Given the description of an element on the screen output the (x, y) to click on. 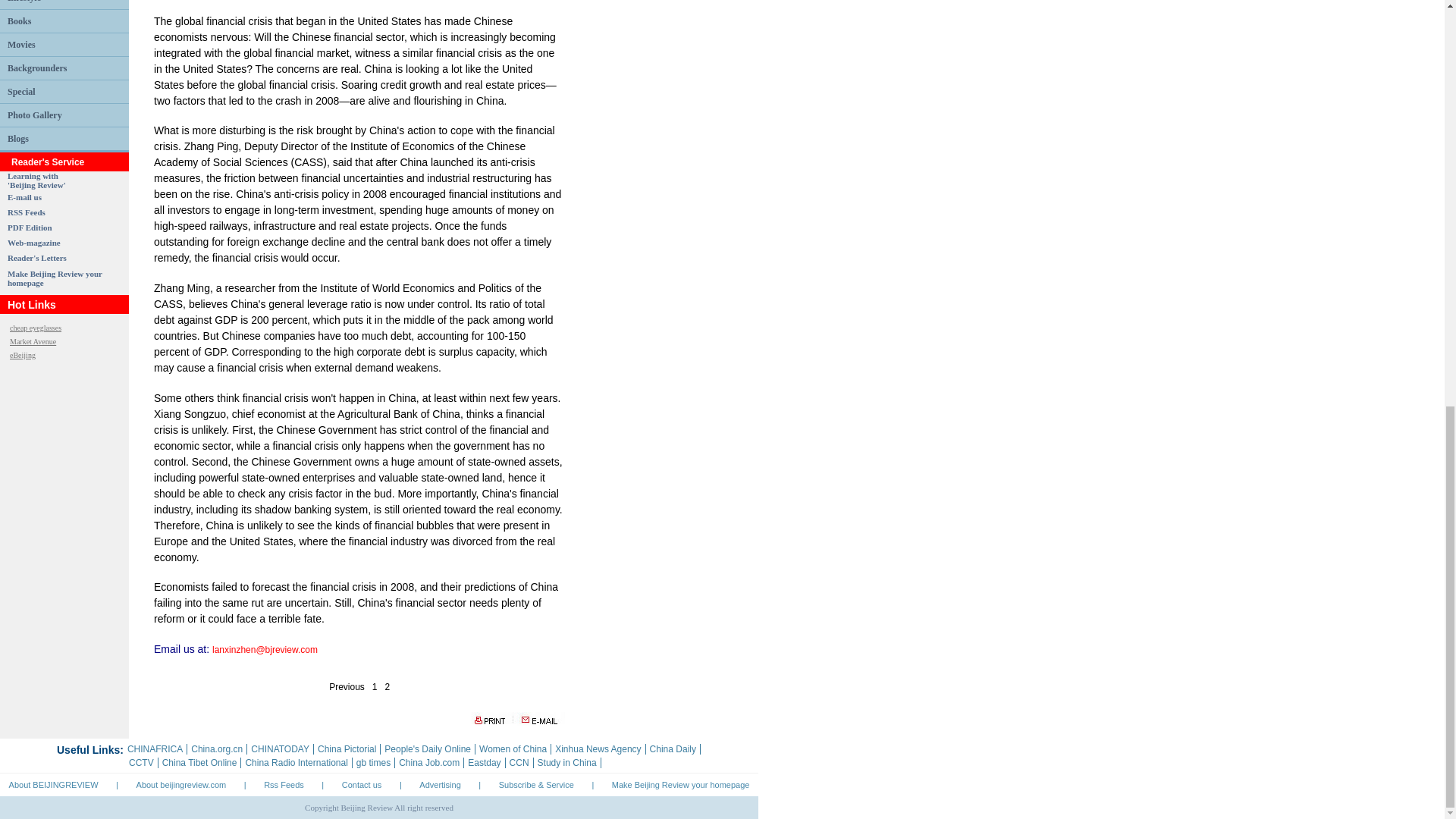
Backgrounders (36, 67)
Lifestyle (23, 1)
Reader's Letters (36, 257)
Make Beijing Review your homepage (54, 278)
Movies (20, 44)
Special (20, 91)
cheap eyeglasses (35, 327)
RSS Feeds (36, 180)
PDF Edition (26, 212)
Books (29, 226)
Blogs (18, 20)
E-mail us (18, 138)
Photo Gallery (24, 196)
